Given the description of an element on the screen output the (x, y) to click on. 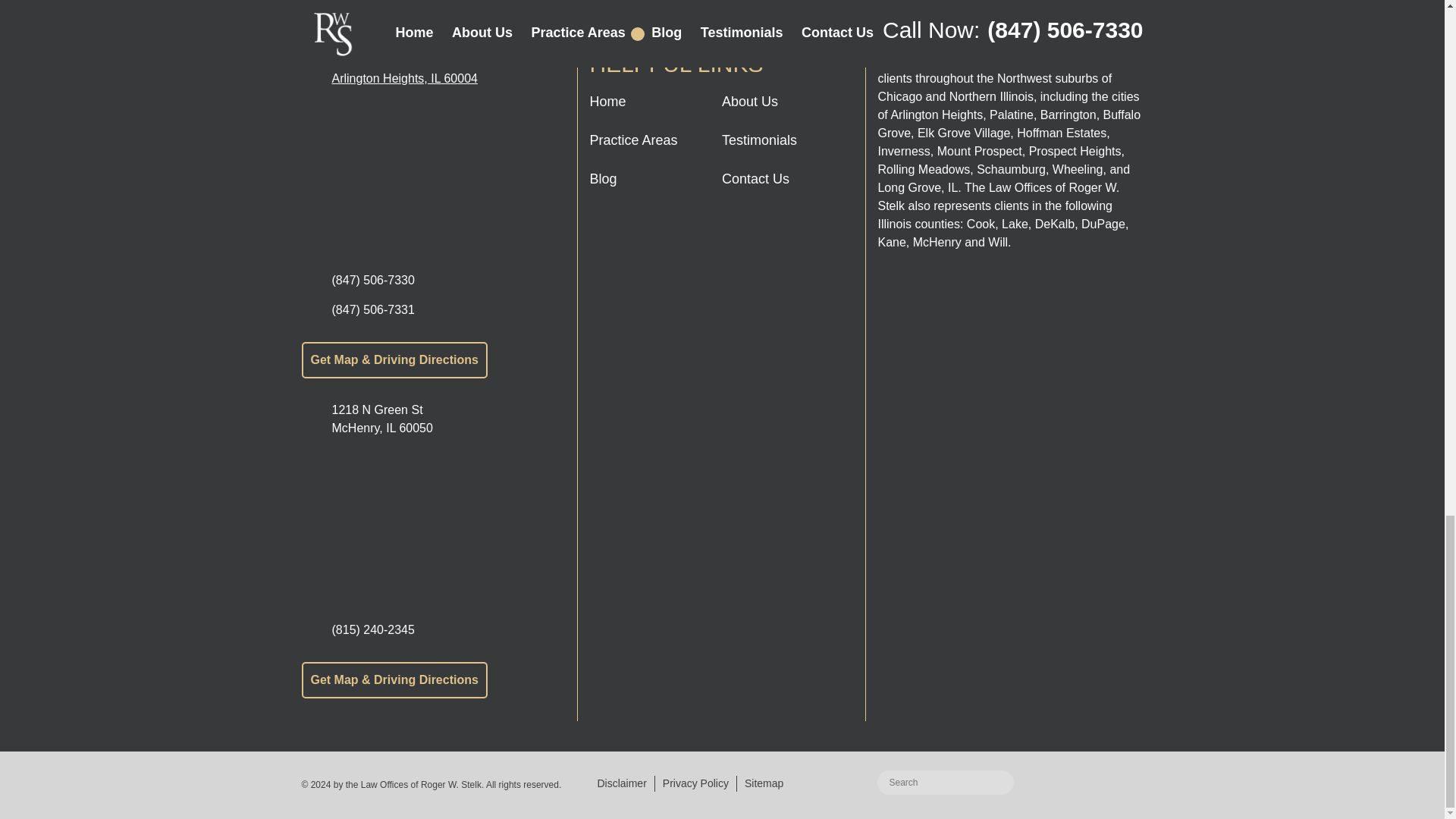
social (719, 240)
address (433, 178)
website (1097, 785)
address (433, 528)
